Given the description of an element on the screen output the (x, y) to click on. 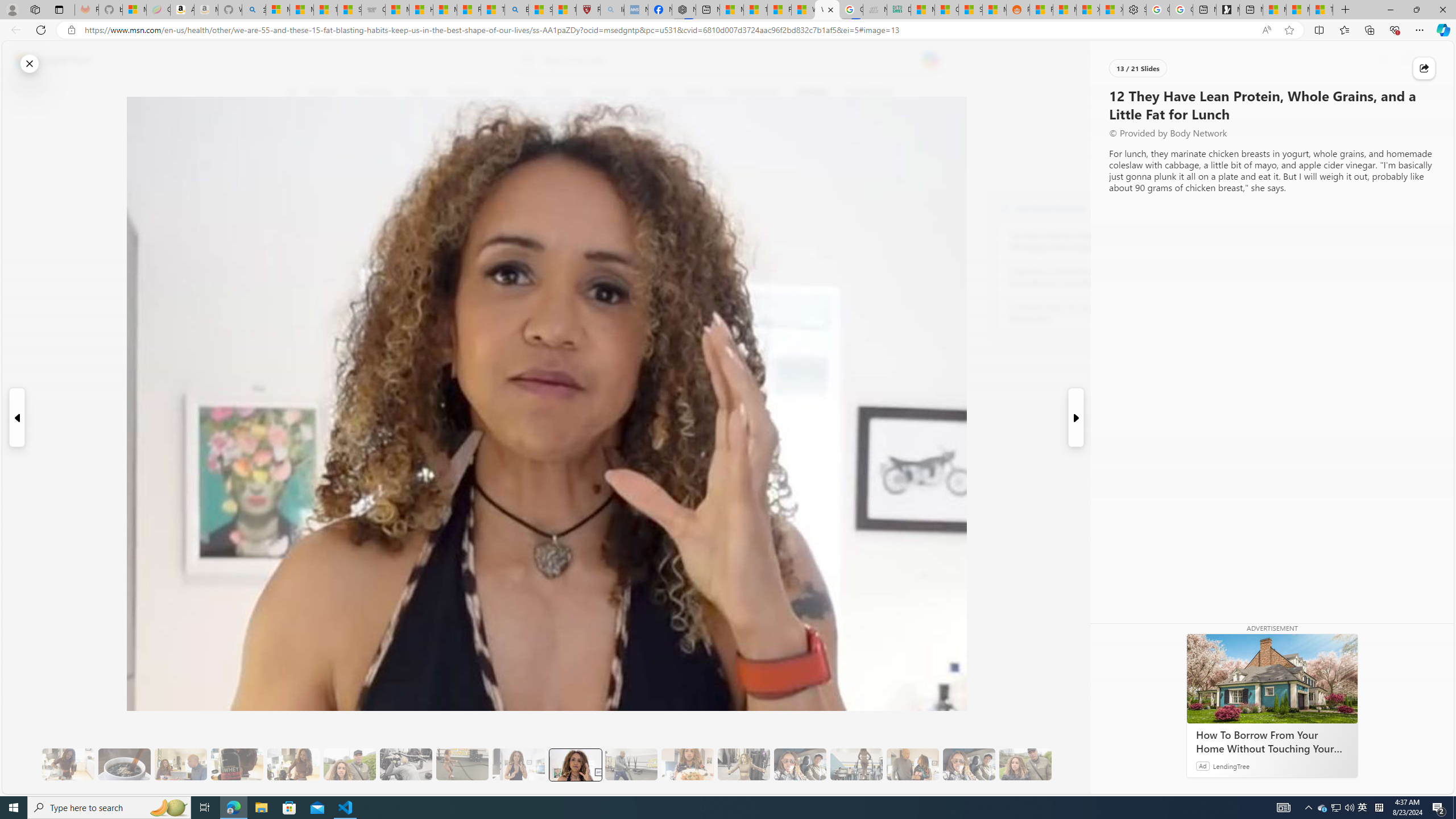
How To Borrow From Your Home Without Touching Your Mortgage (1271, 678)
Class: button-glyph (292, 92)
7 They Don't Skip Meals (293, 764)
Visit Body Network website (1145, 207)
3 They Drink Lemon Tea (68, 764)
14 They Have Salmon and Veggies for Dinner (687, 764)
NCL Adult Asthma Inhaler Choice Guideline - Sleeping (635, 9)
6 Since Eating More Protein Her Training Has Improved (237, 764)
R******* | Trusted Community Engagement and Contributions (1041, 9)
Open settings (1427, 60)
